Given the description of an element on the screen output the (x, y) to click on. 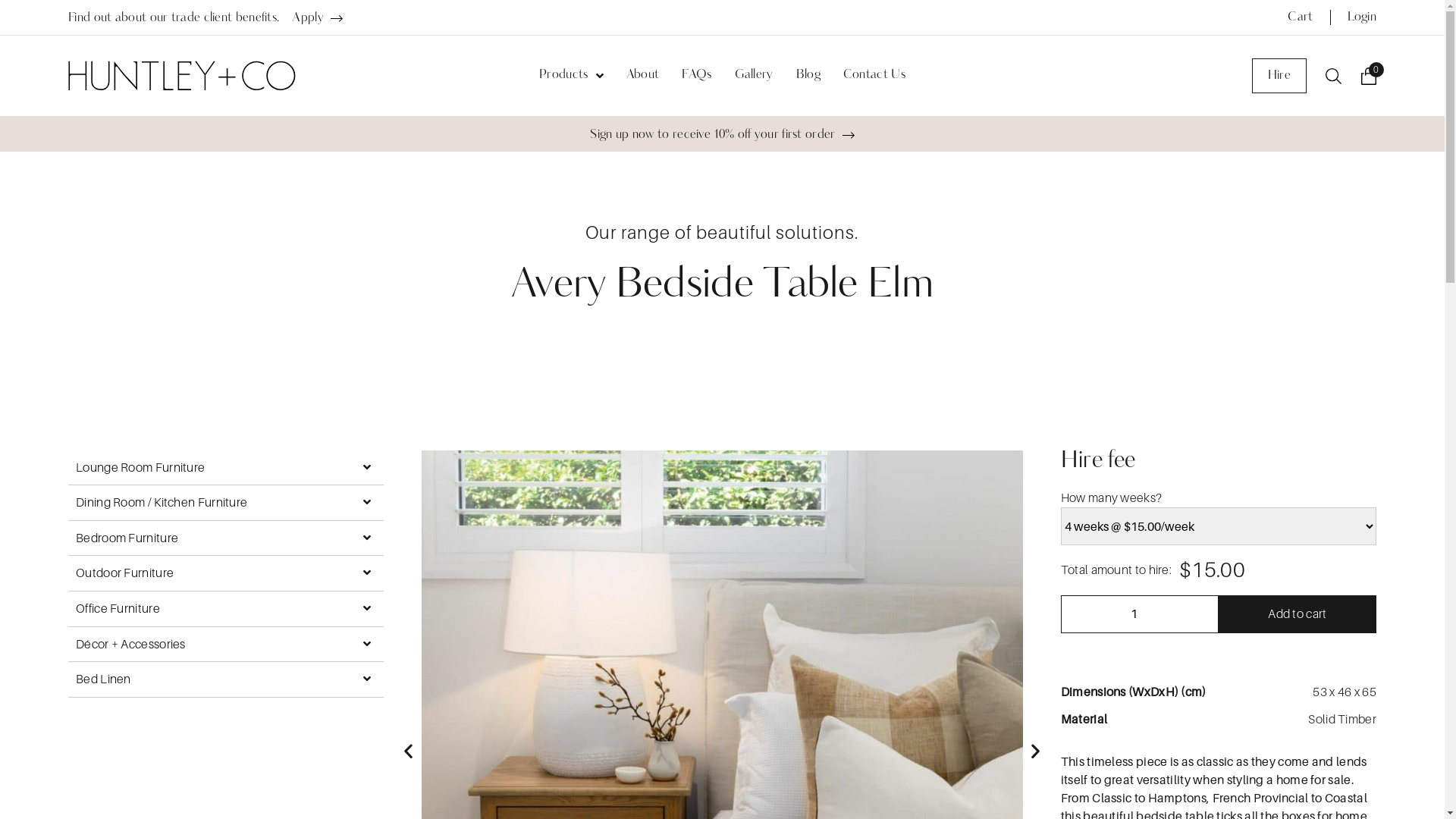
Blog Element type: text (807, 75)
Login Element type: text (1361, 17)
Find out about our trade client benefits.    Apply Element type: text (205, 18)
Office Furniture Element type: text (225, 608)
Cart Element type: text (1299, 17)
Gallery Element type: text (753, 75)
Lounge Room Furniture Element type: text (225, 467)
FAQs Element type: text (696, 75)
Dining Room / Kitchen Furniture Element type: text (225, 502)
About Element type: text (643, 75)
Outdoor Furniture Element type: text (225, 572)
Contact Us Element type: text (873, 75)
Hire Element type: text (1279, 76)
Bedroom Furniture Element type: text (225, 537)
Sign up now to receive 10% off your first order Element type: text (721, 134)
Products Element type: text (571, 75)
0 Element type: text (1368, 75)
Add to cart Element type: text (1297, 614)
Bed Linen Element type: text (225, 679)
